Given the description of an element on the screen output the (x, y) to click on. 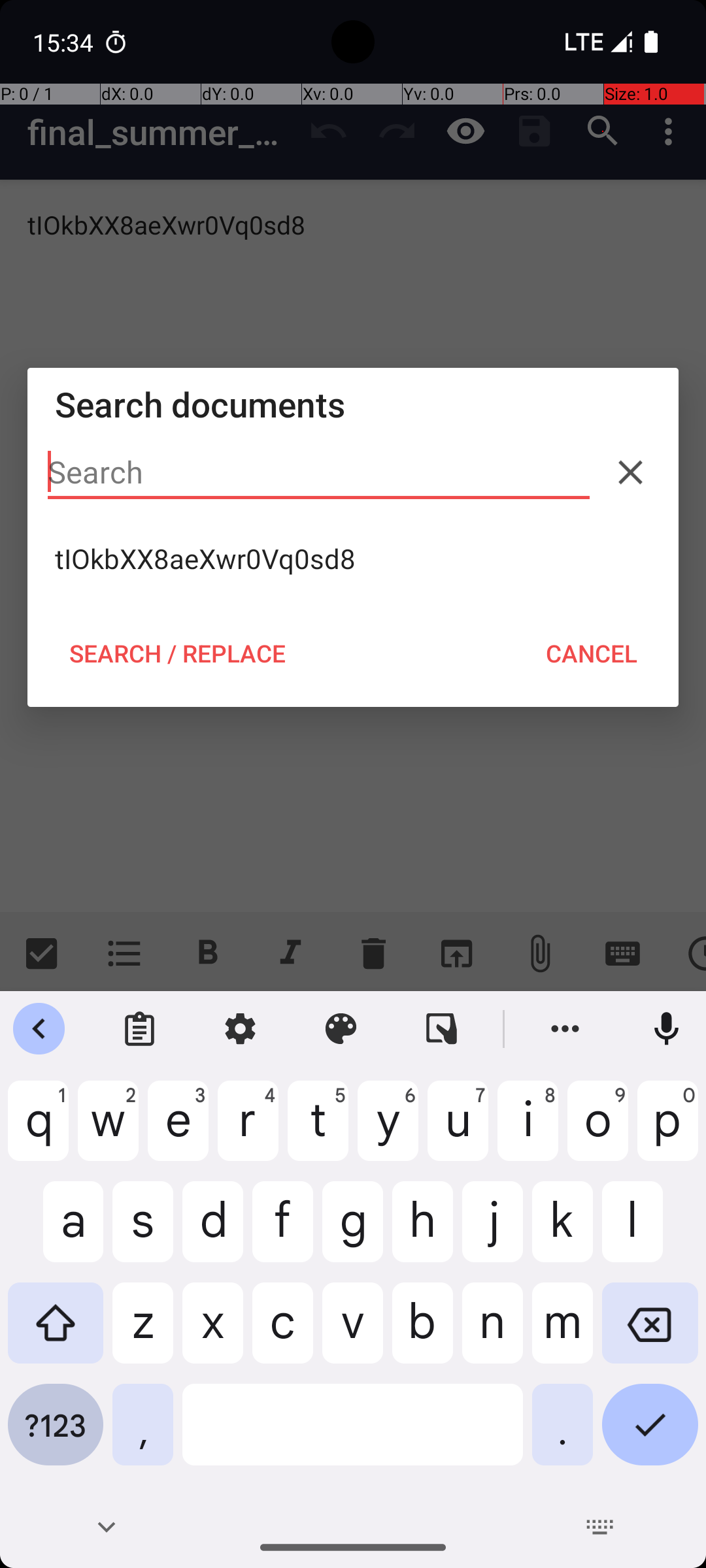
tIOkbXX8aeXwr0Vq0sd8 Element type: android.widget.TextView (352, 558)
